Given the description of an element on the screen output the (x, y) to click on. 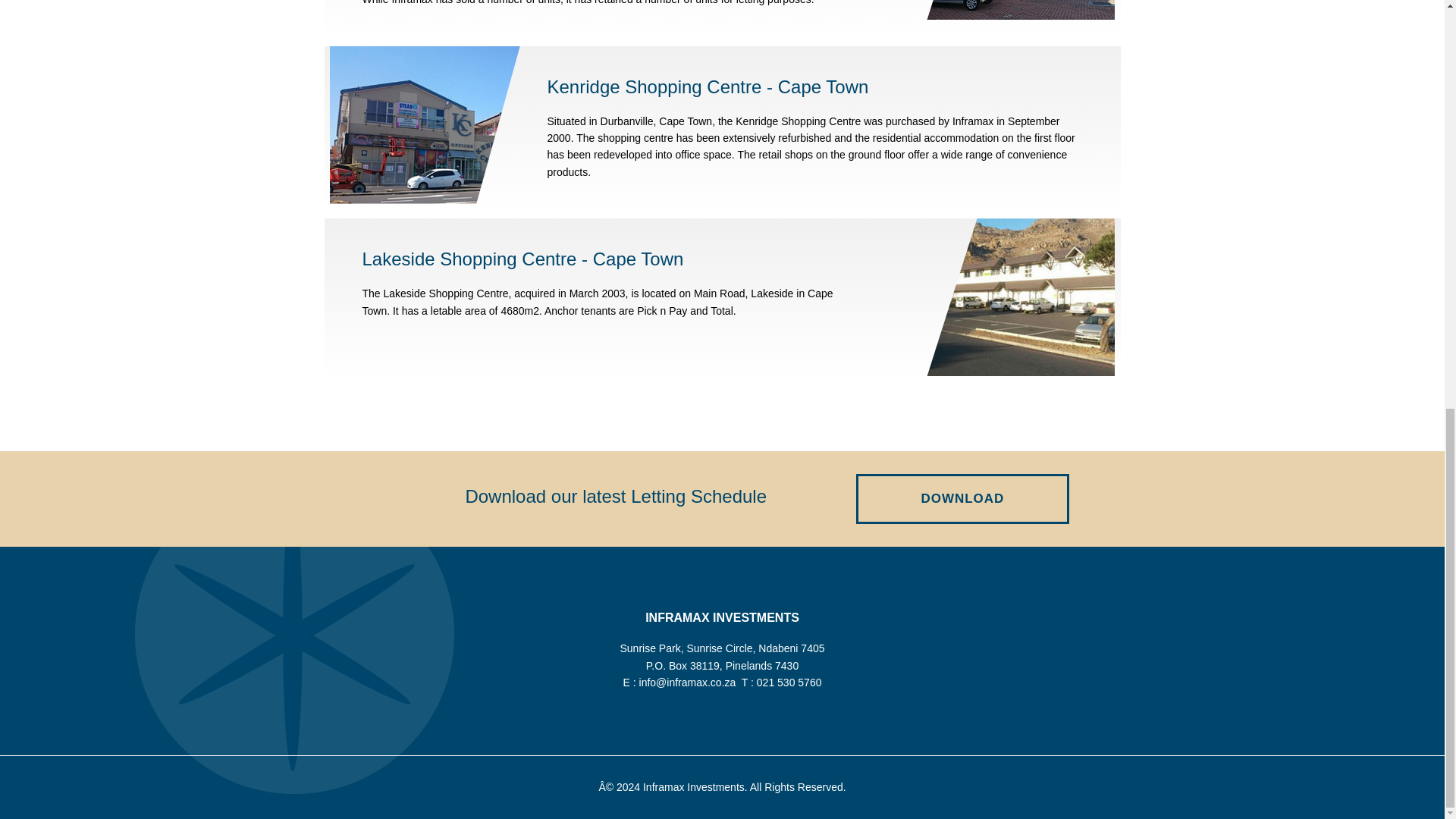
DOWNLOAD (962, 499)
